Given the description of an element on the screen output the (x, y) to click on. 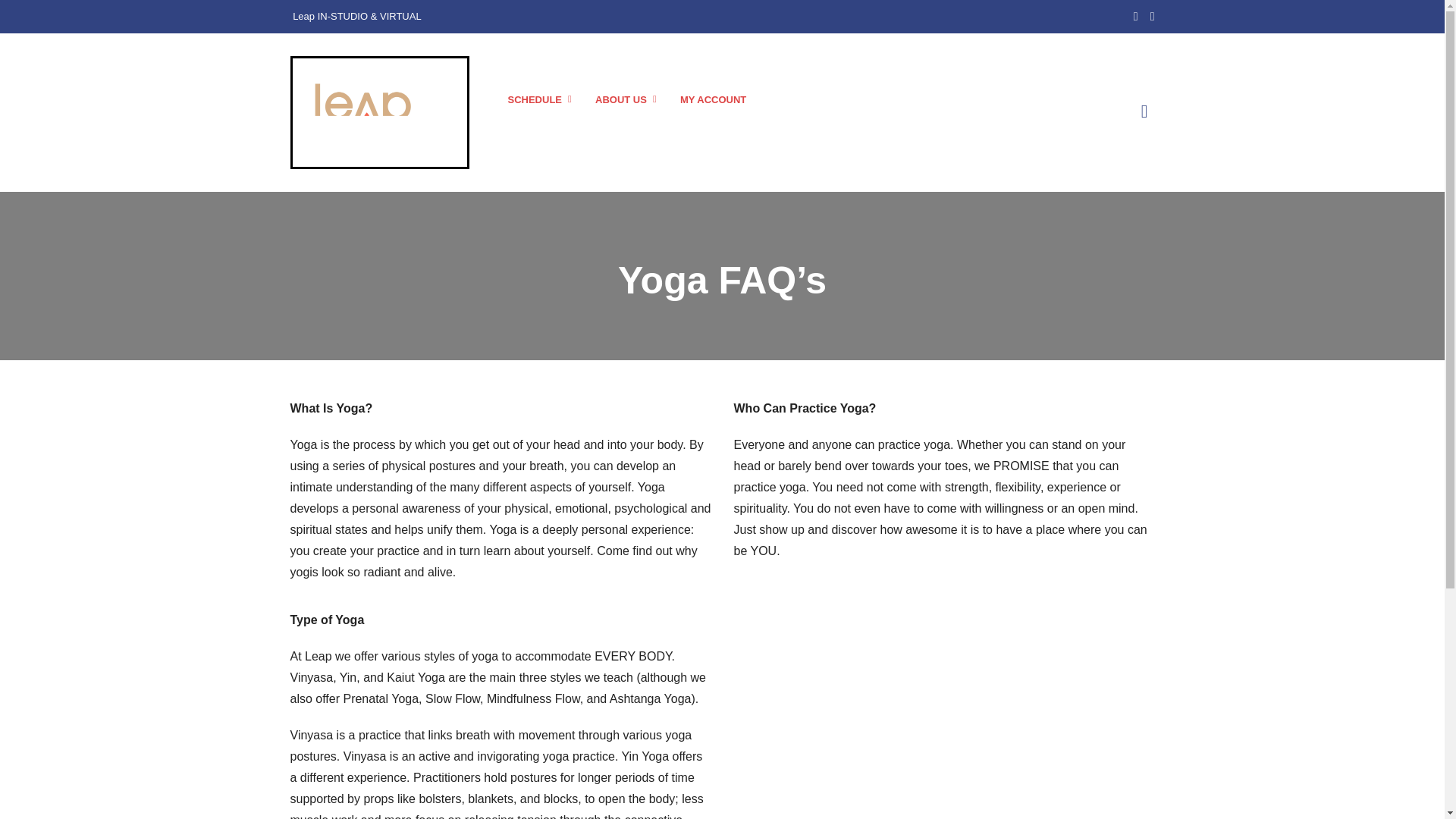
Search (1085, 118)
ABOUT US (621, 99)
SCHEDULE (535, 99)
MY ACCOUNT (713, 99)
